Given the description of an element on the screen output the (x, y) to click on. 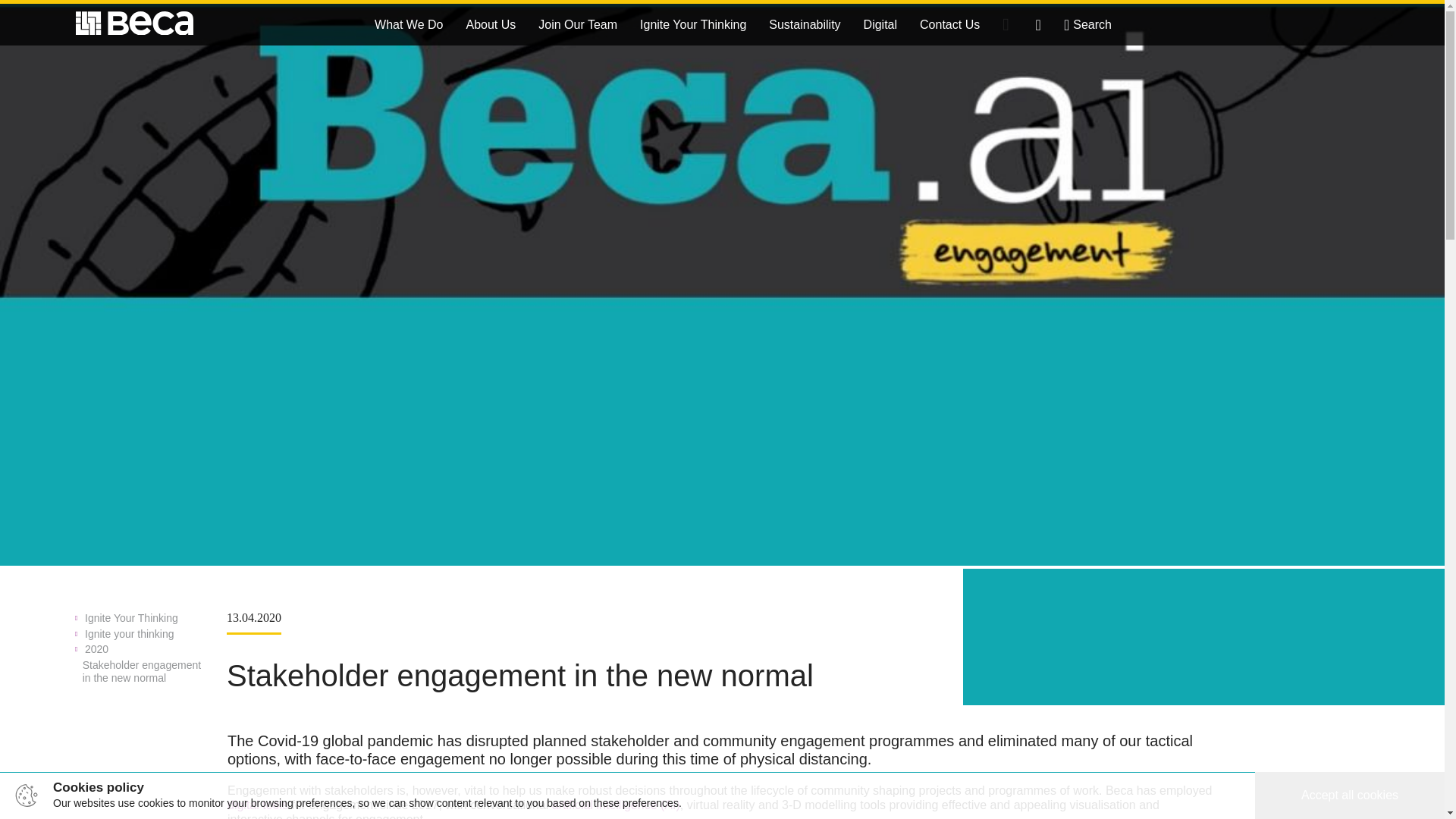
Stakeholder engagement in the new normal (143, 671)
2020 (143, 649)
Ignite your thinking (143, 634)
digital tools (257, 804)
Sustainability (804, 24)
Digital (879, 24)
Join Our Team (577, 24)
Ignite Your Thinking (143, 617)
About Us (490, 24)
Contact Us (949, 24)
